Given the description of an element on the screen output the (x, y) to click on. 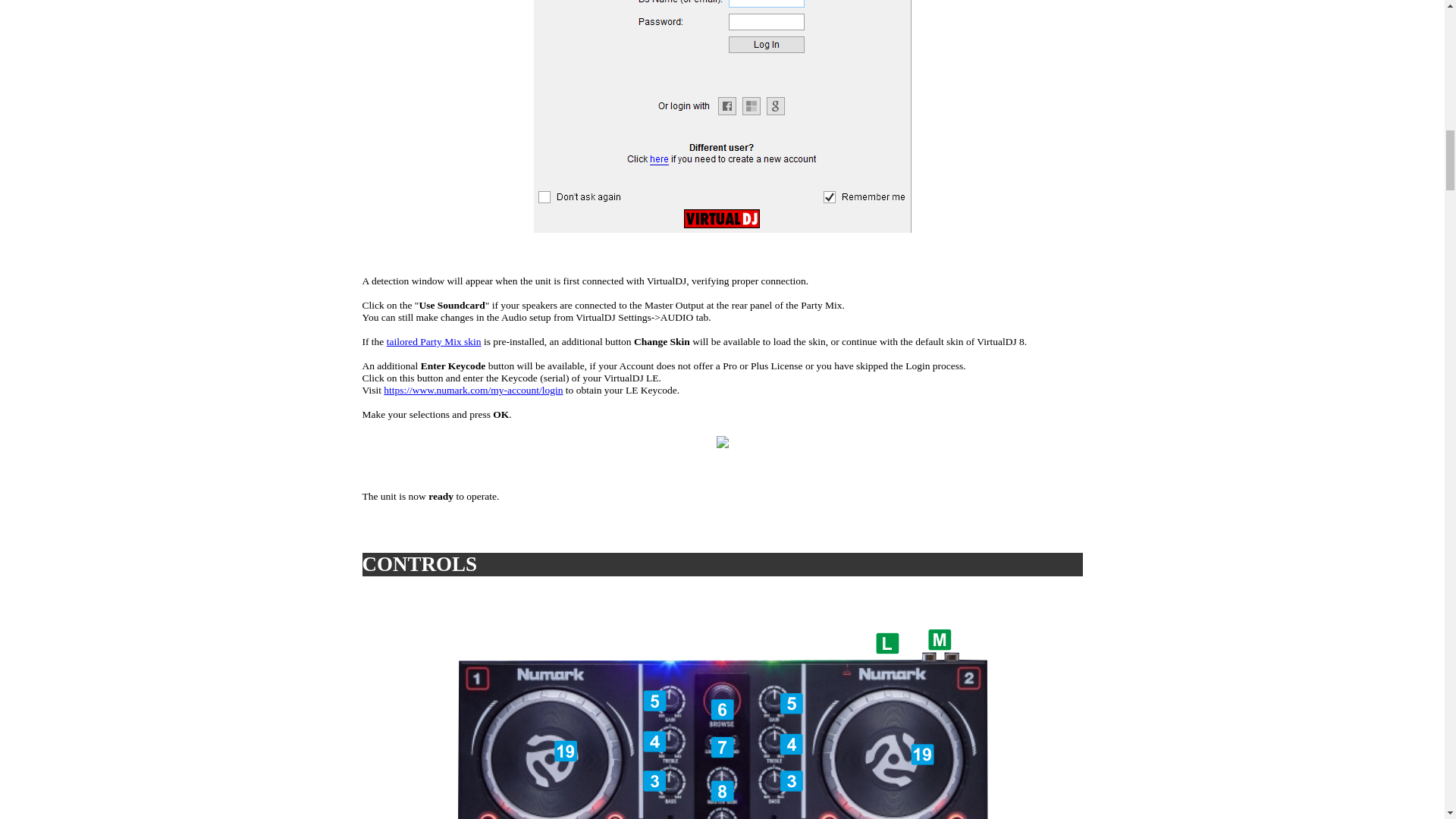
tailored Party Mix skin (434, 341)
